Given the description of an element on the screen output the (x, y) to click on. 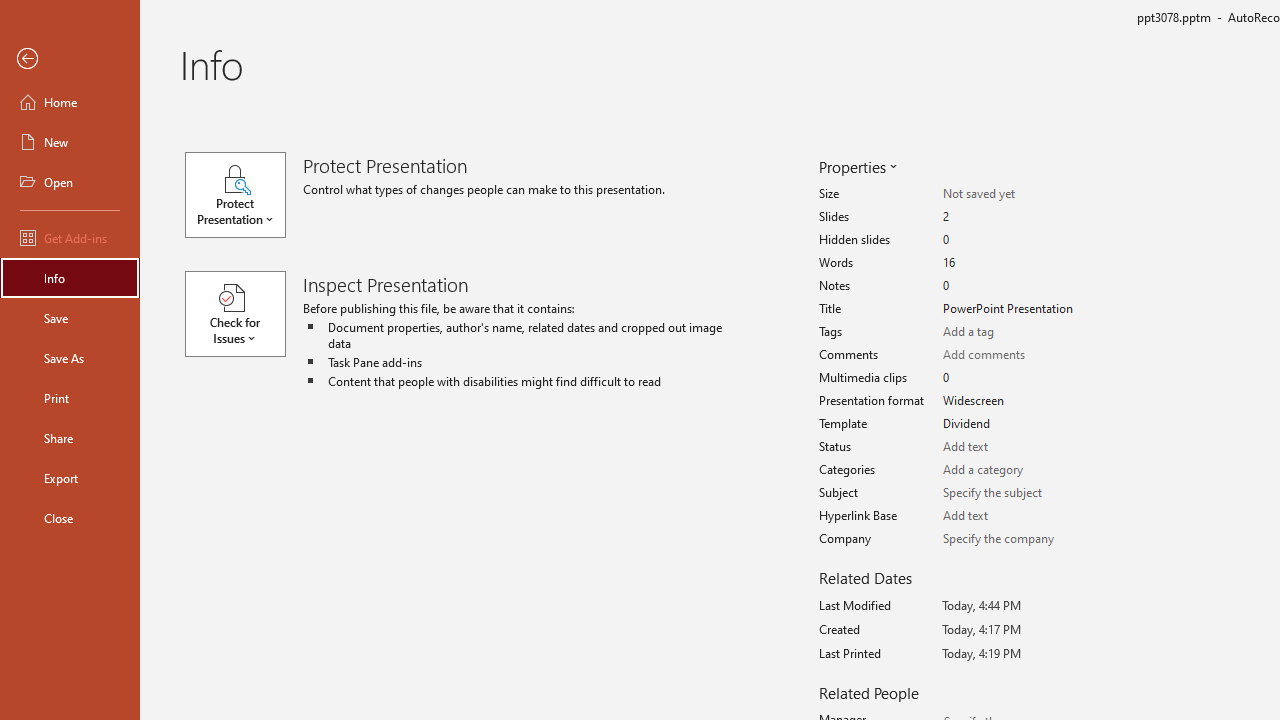
Categories (1012, 470)
Notes (1012, 286)
